Given the description of an element on the screen output the (x, y) to click on. 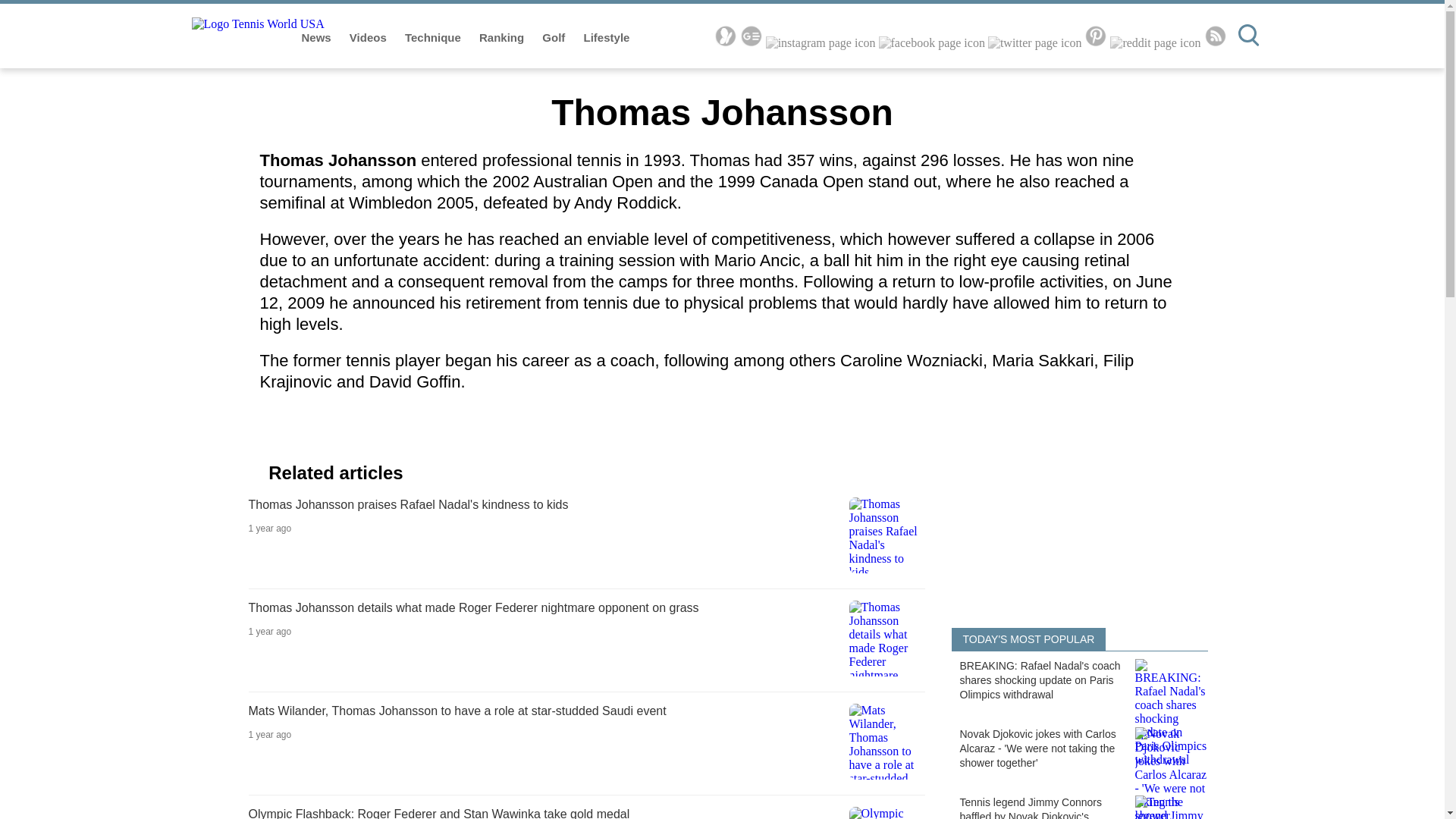
Lifestyle (606, 37)
Ranking (503, 37)
Videos (369, 37)
Technique (434, 37)
News (317, 37)
Golf (554, 37)
